Given the description of an element on the screen output the (x, y) to click on. 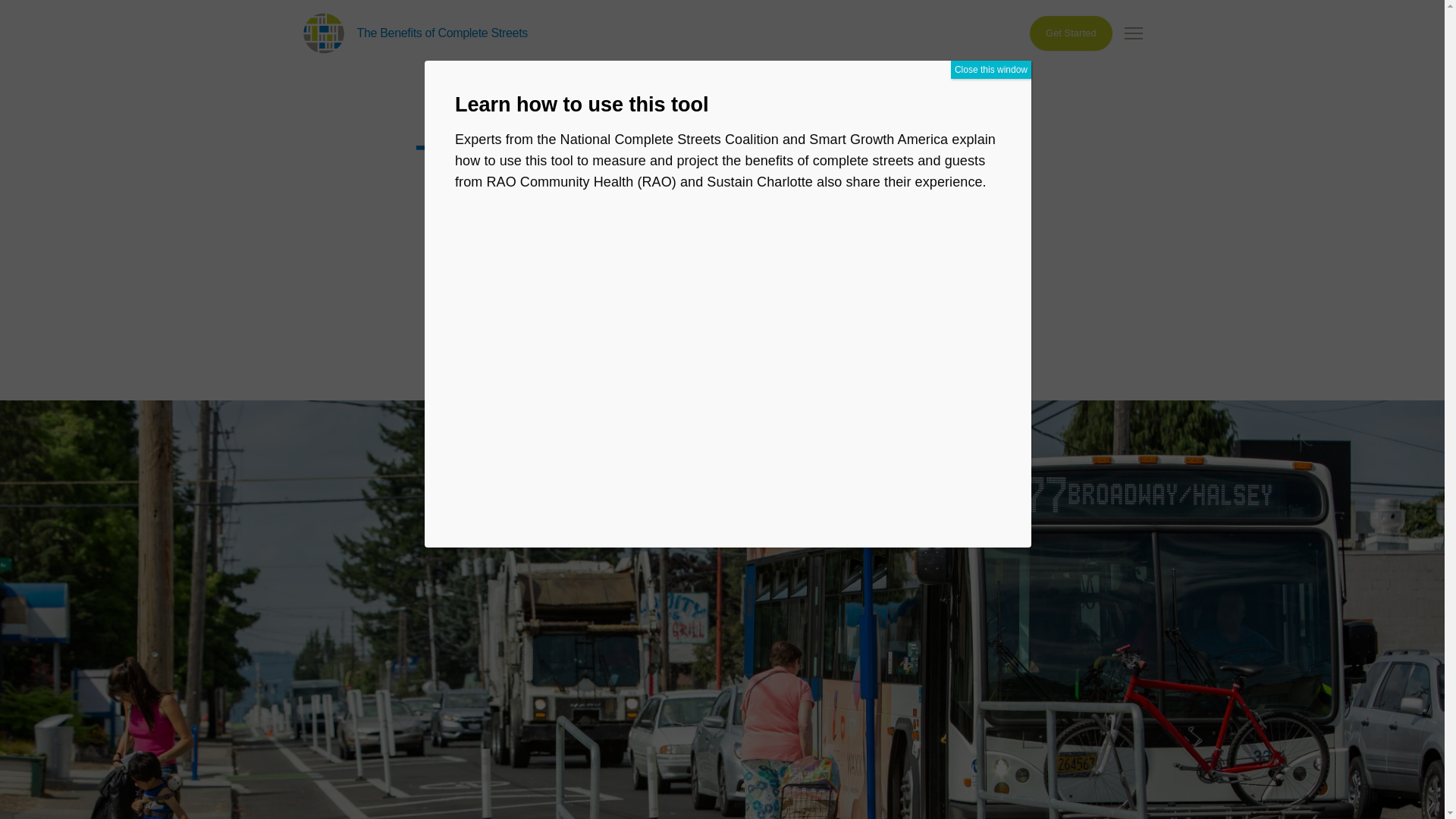
Scroll (721, 400)
Smart Growth America (322, 33)
Close this window (990, 69)
Get Started (1070, 32)
